Given the description of an element on the screen output the (x, y) to click on. 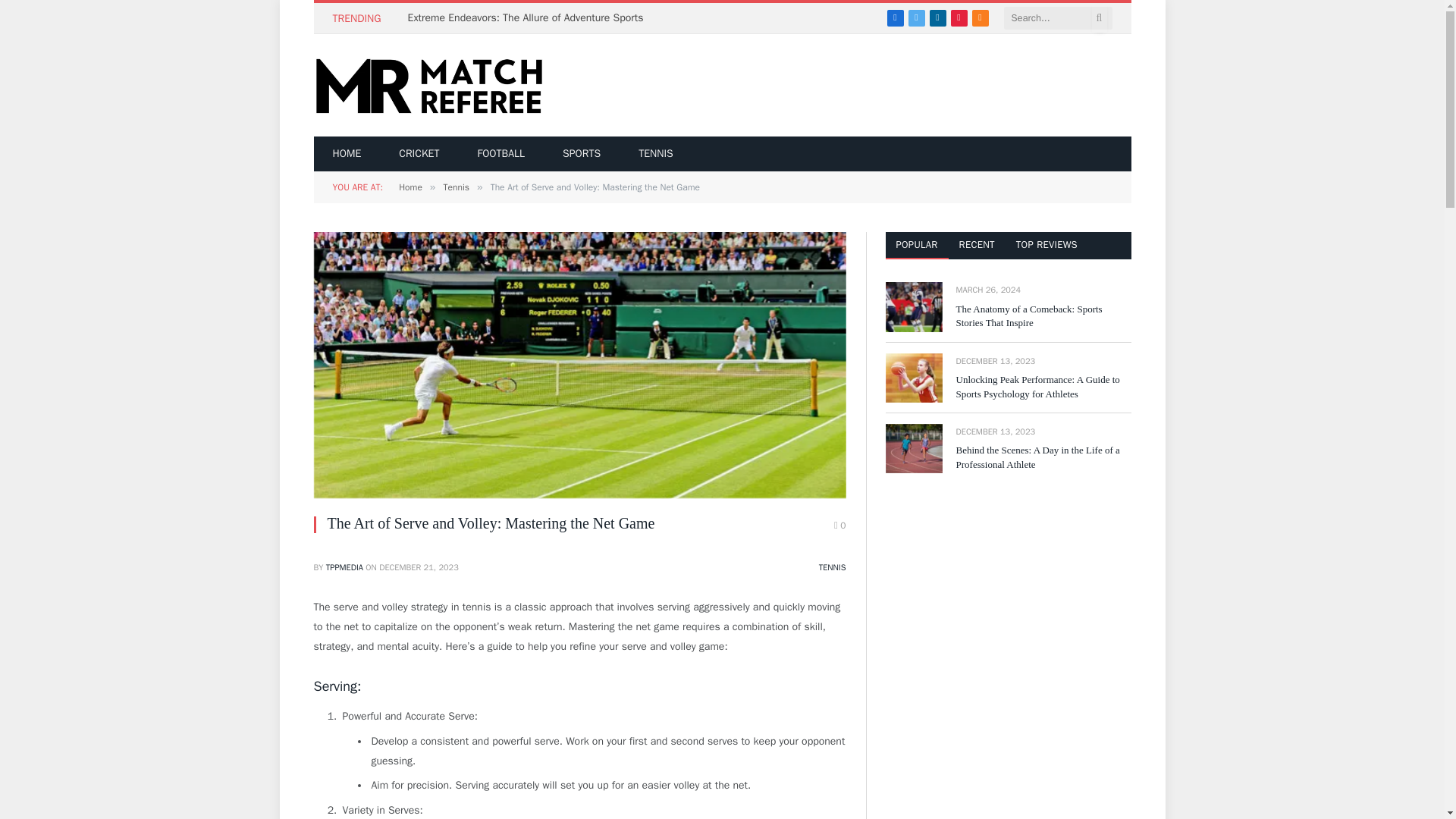
LinkedIn (938, 17)
CRICKET (419, 153)
TENNIS (656, 153)
TENNIS (831, 566)
SPORTS (581, 153)
RSS (980, 17)
Tennis (455, 186)
Facebook (895, 17)
Posts by TPPMedia (344, 566)
TPPMEDIA (344, 566)
2023-12-21 (418, 566)
FOOTBALL (500, 153)
Home (410, 186)
HOME (347, 153)
Pinterest (959, 17)
